Given the description of an element on the screen output the (x, y) to click on. 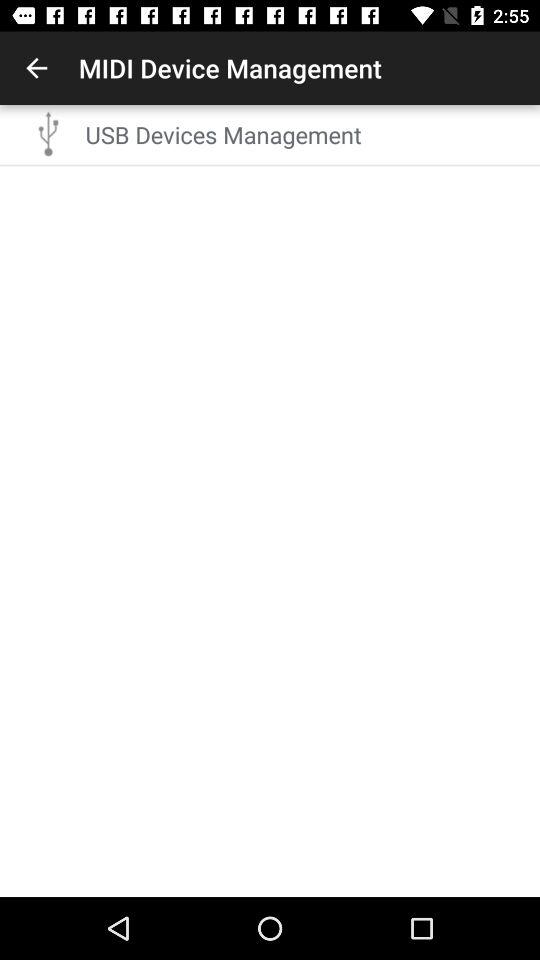
open the app to the left of usb devices management icon (49, 134)
